Given the description of an element on the screen output the (x, y) to click on. 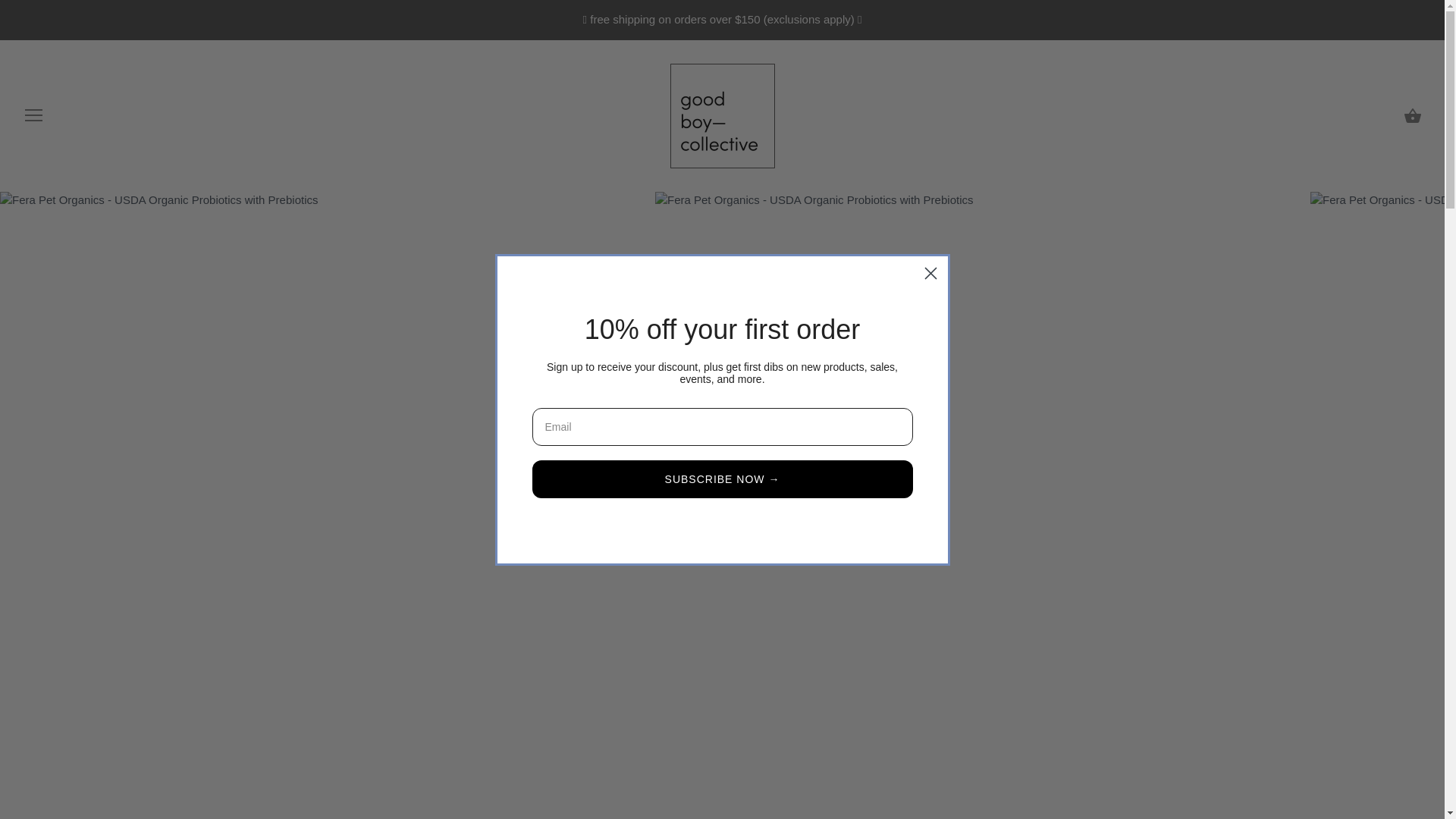
Cart (1412, 115)
Cart (1412, 115)
